Given the description of an element on the screen output the (x, y) to click on. 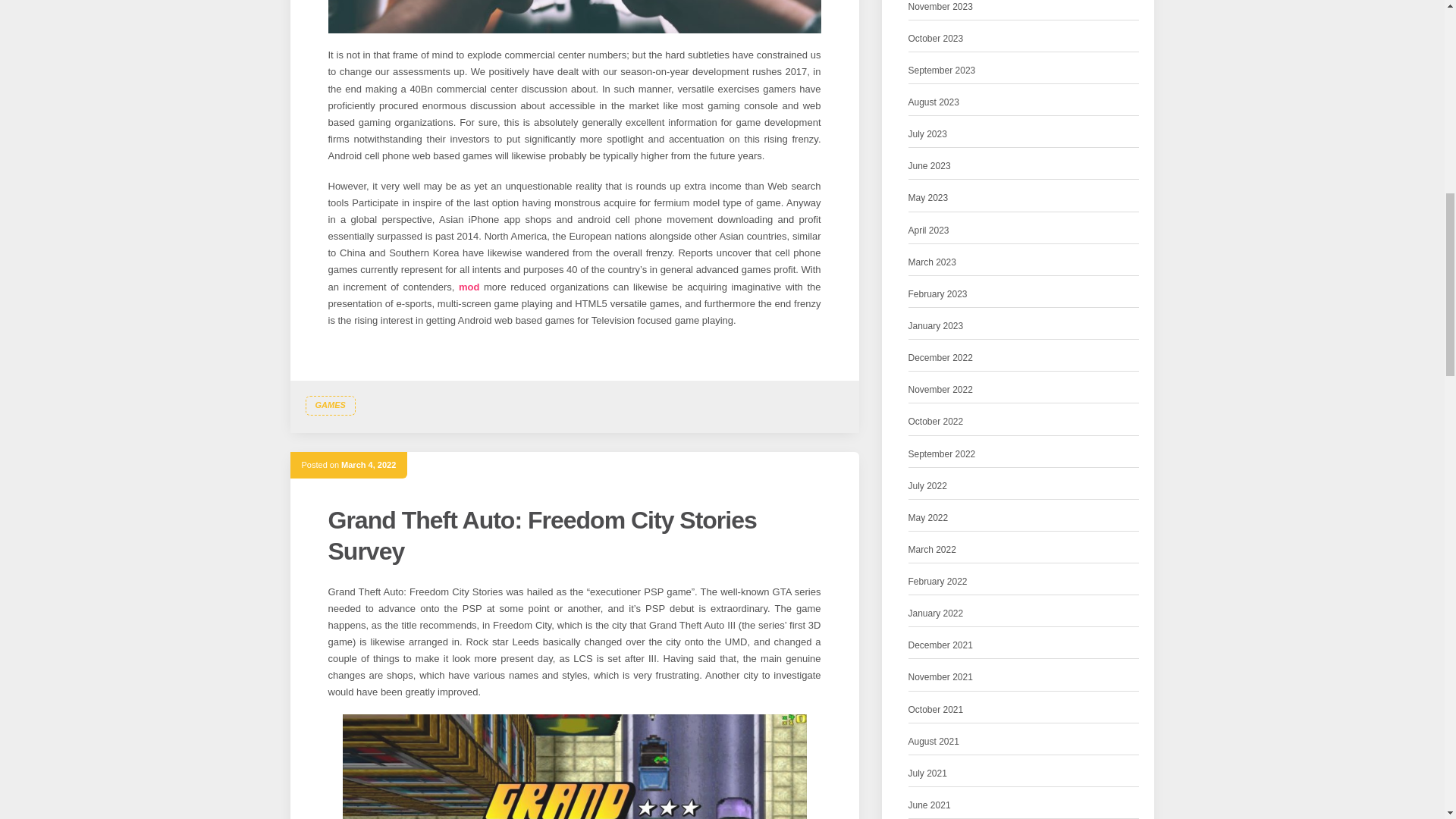
mod (468, 286)
March 4, 2022 (368, 464)
September 2023 (941, 70)
Grand Theft Auto: Freedom City Stories Survey (541, 535)
November 2023 (940, 7)
GAMES (329, 405)
August 2023 (933, 102)
October 2023 (935, 38)
